Given the description of an element on the screen output the (x, y) to click on. 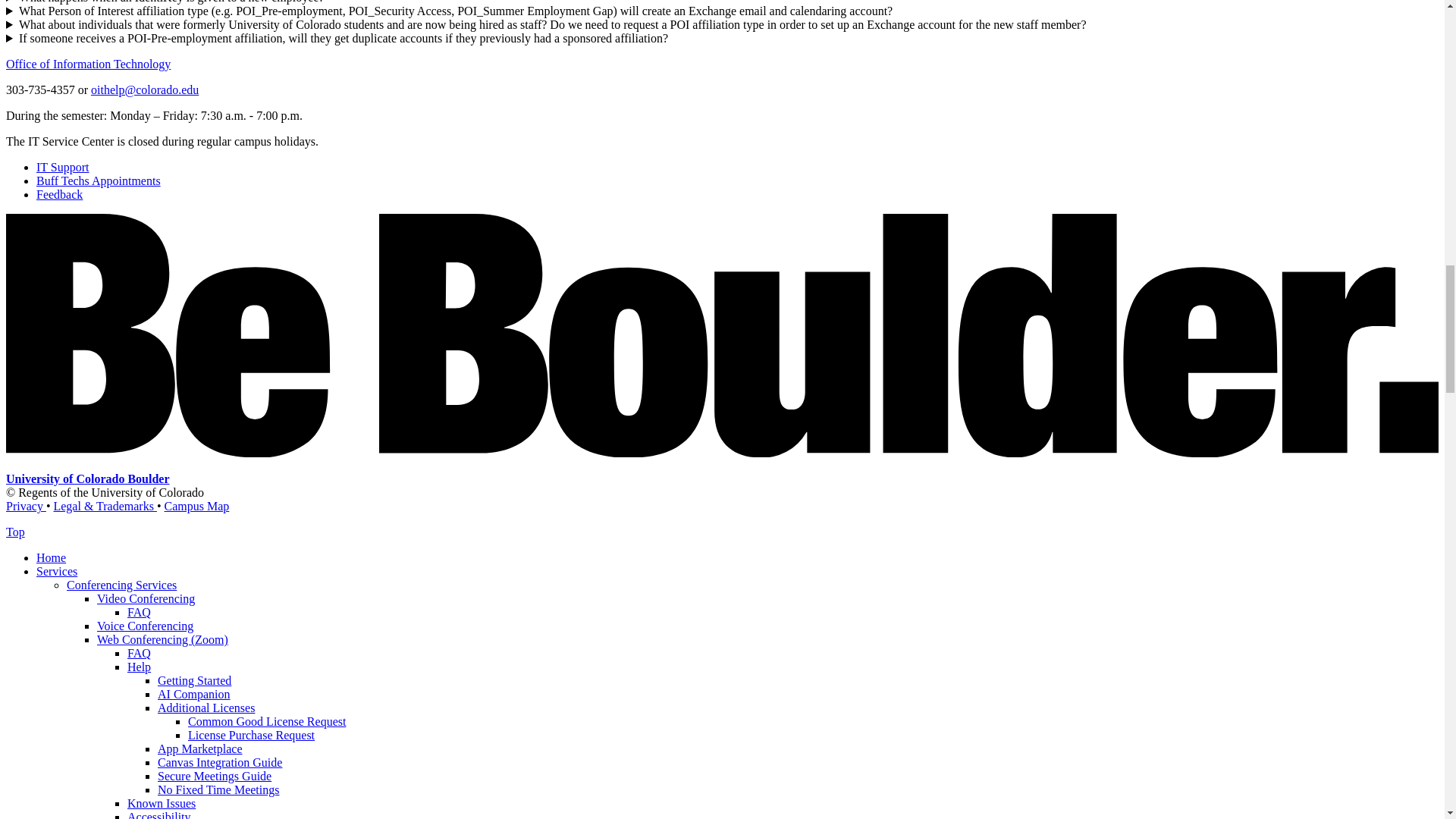
University of Colorado Boulder (87, 478)
Feedback (59, 194)
Campus Map (197, 505)
Video Conferencing (146, 598)
Office of Information Technology (87, 63)
back to the top (14, 531)
Privacy (25, 505)
Home (50, 557)
Zoom - No Fixed Time Meetings (218, 789)
Voice Conferencing (145, 625)
